Given the description of an element on the screen output the (x, y) to click on. 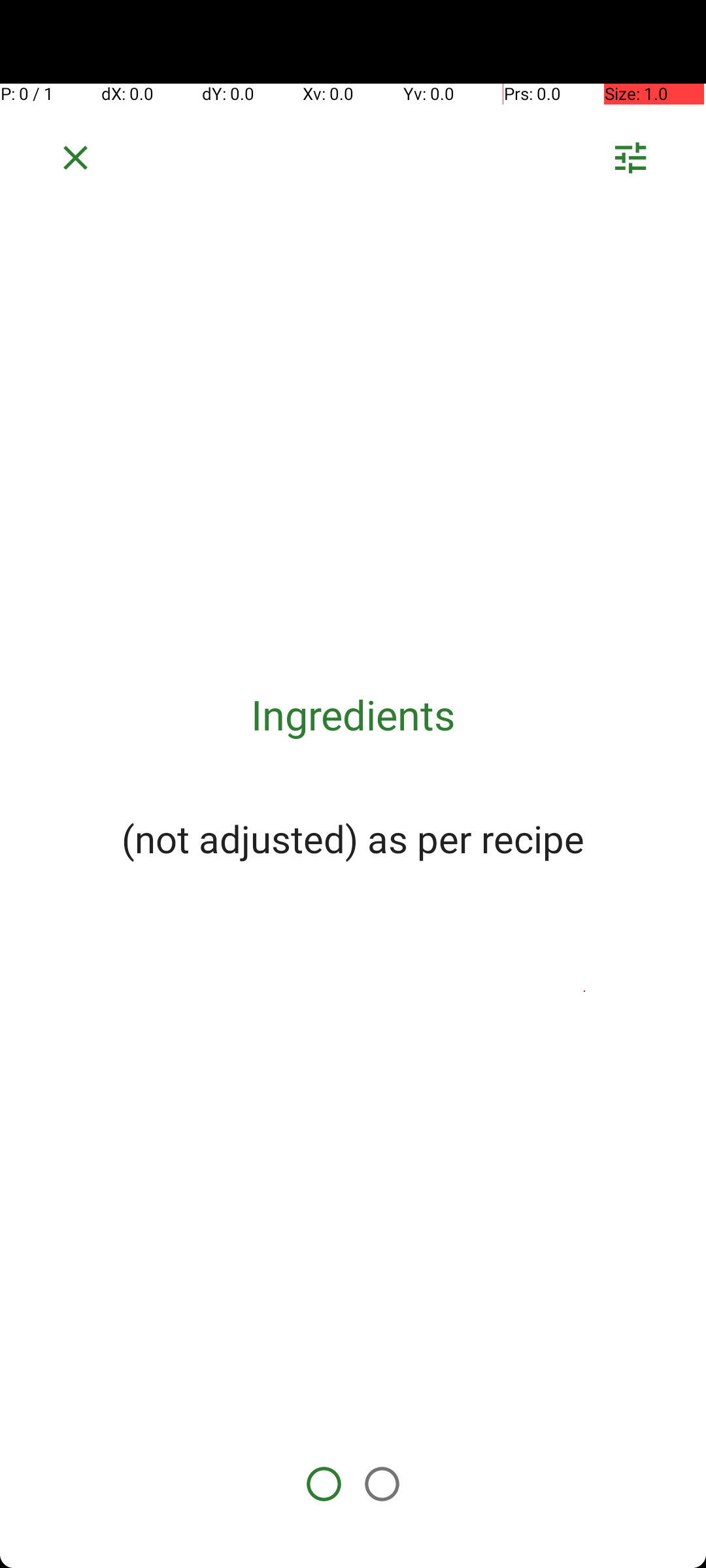
(not adjusted) as per recipe Element type: android.widget.TextView (353, 838)
